Given the description of an element on the screen output the (x, y) to click on. 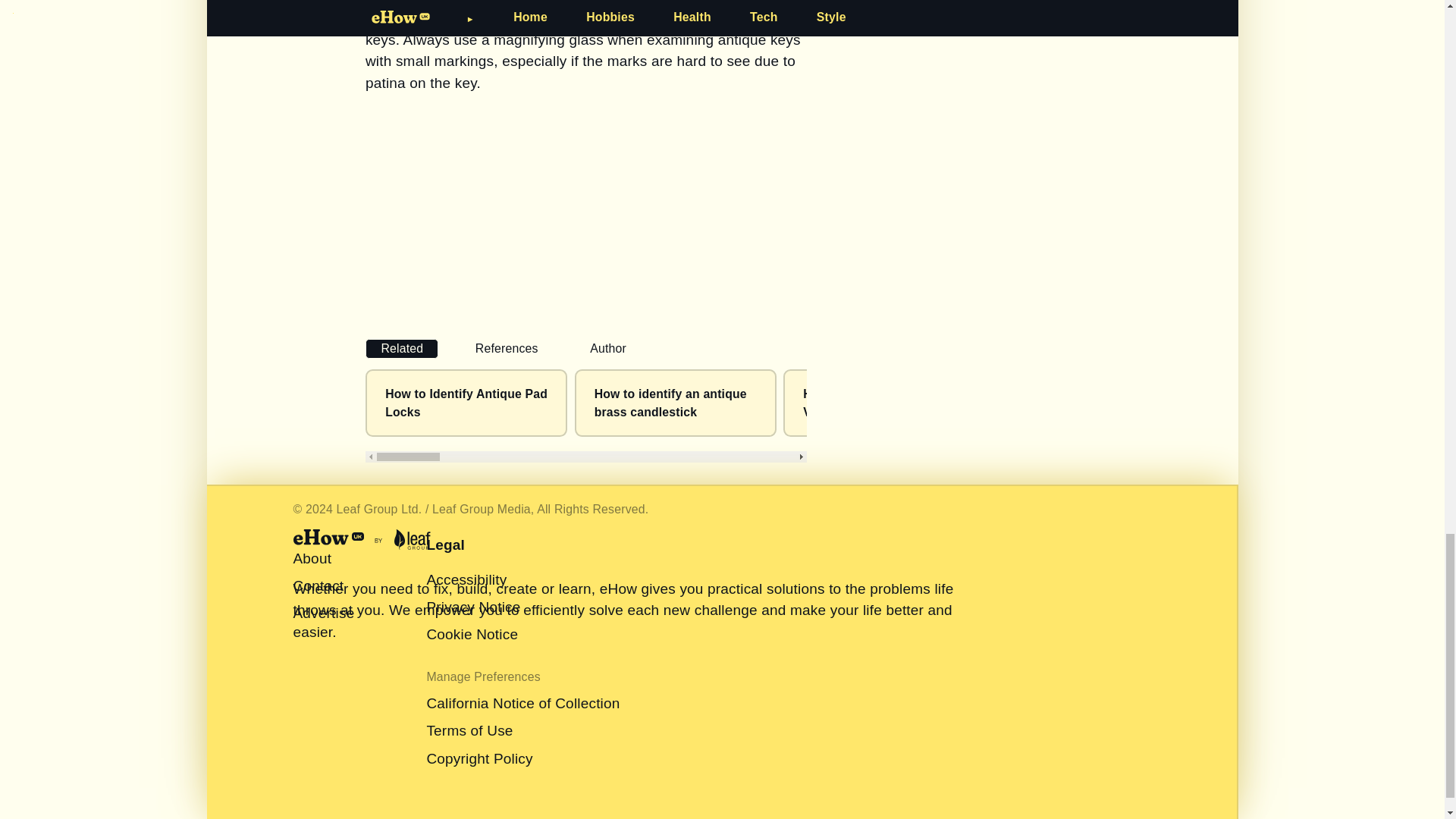
Contact (317, 585)
Manage Preferences (483, 676)
How to identify an antique brass candlestick (669, 402)
California Notice of Collection (523, 703)
Copyright Policy (479, 758)
Advertise (322, 612)
Terms of Use (469, 730)
Cookie Notice (472, 634)
Accessibility (466, 579)
Privacy Notice (472, 606)
How to Identify Antique Pad Locks (466, 402)
How to Tell If a Fendi Vintage Bag is Real (863, 402)
About (311, 558)
